Given the description of an element on the screen output the (x, y) to click on. 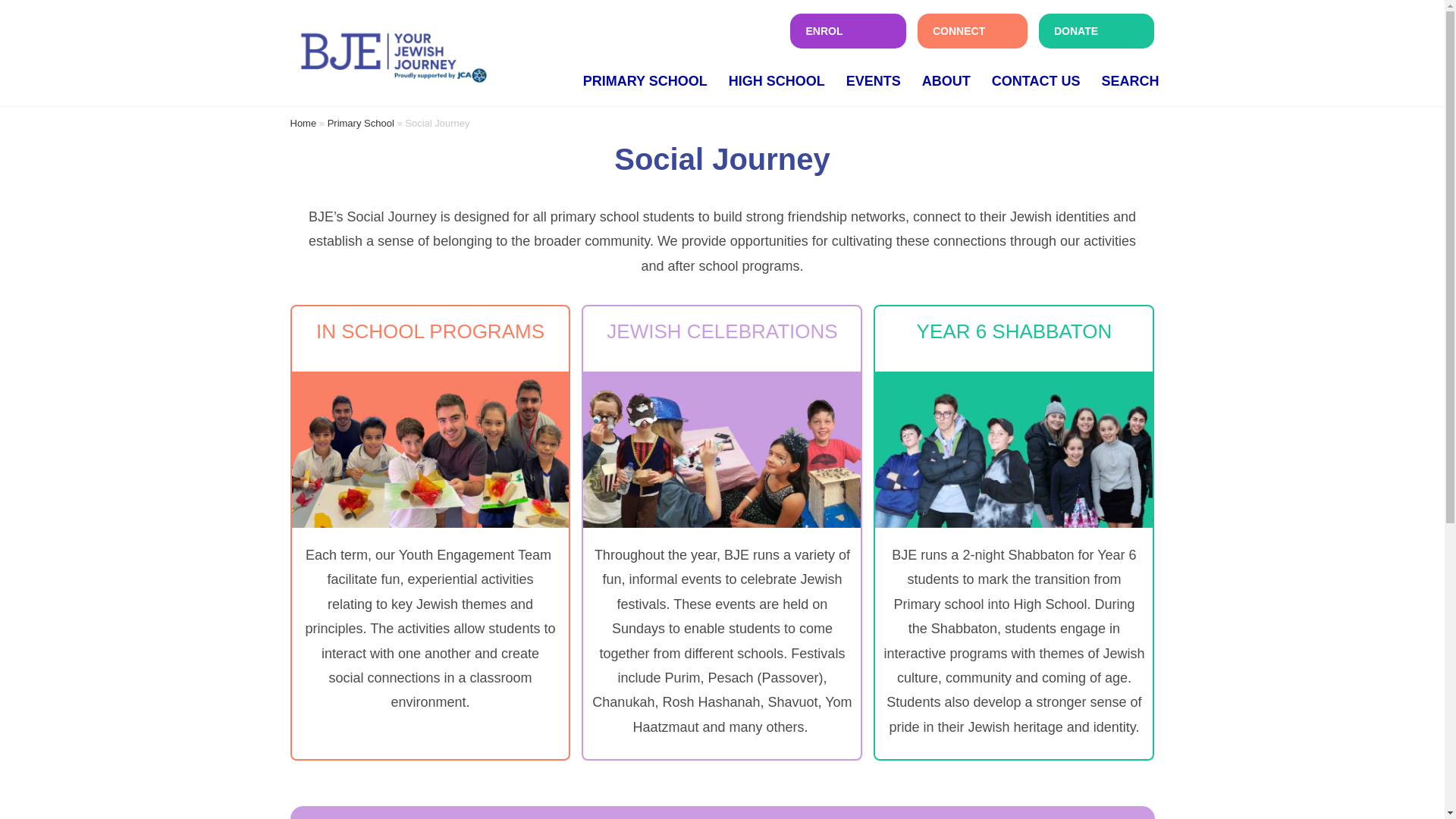
HIGH SCHOOL (776, 80)
PRIMARY SCHOOL (644, 80)
CONTACT US (1035, 80)
Social Journey 3 (1014, 449)
Social Journey 1 (430, 449)
ABOUT (946, 80)
CONNECT (972, 30)
ENROL (847, 30)
Social Journey 2 (721, 449)
DONATE (1096, 30)
